Given the description of an element on the screen output the (x, y) to click on. 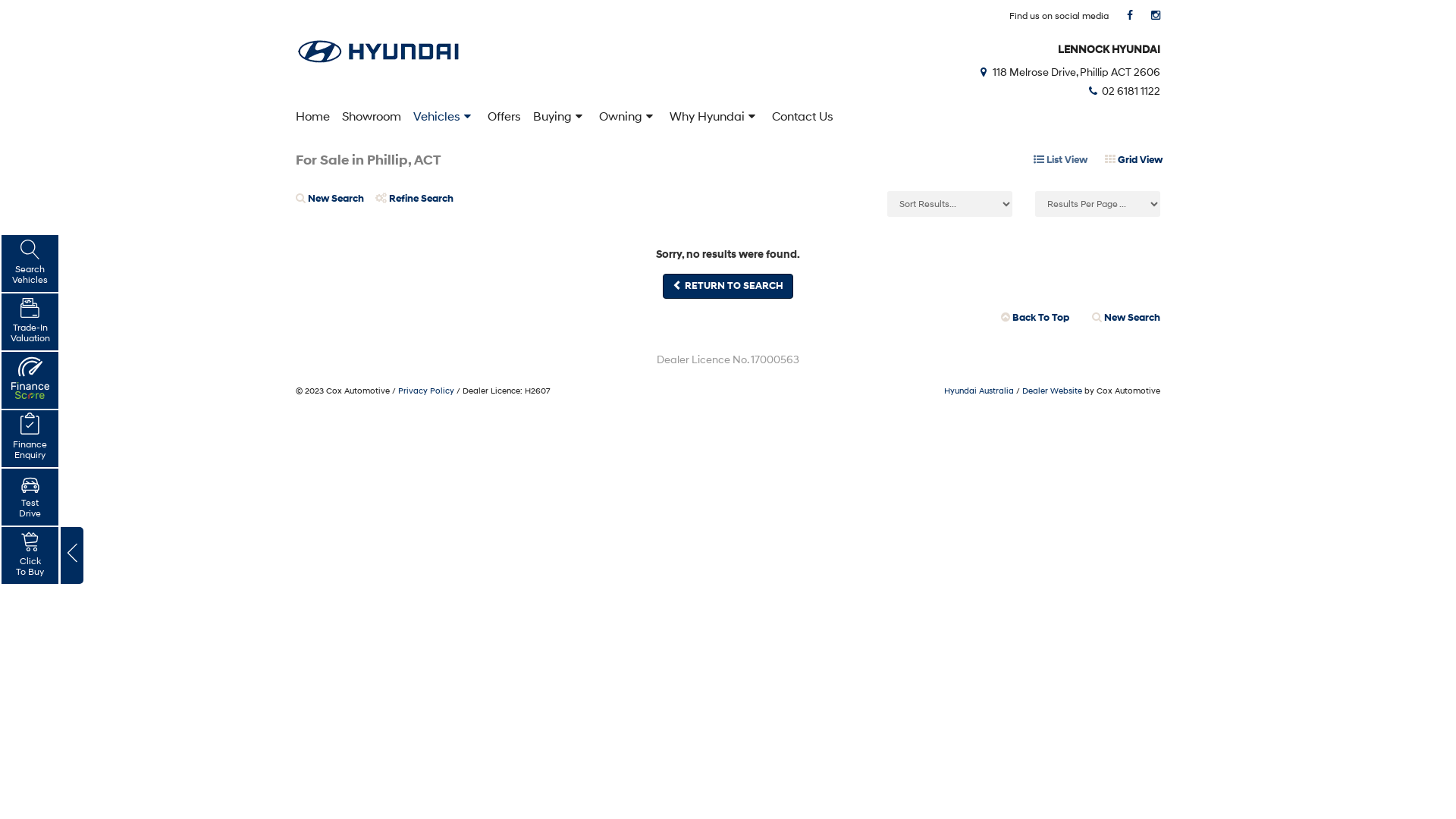
02 6181 1122 Element type: text (1122, 90)
Refine Search Element type: text (419, 204)
Search
Vehicles Element type: text (29, 263)
RETURN TO SEARCH Element type: text (727, 285)
Grid View Element type: text (1133, 160)
118 Melrose Drive, Phillip ACT 2606 Element type: text (1068, 71)
Vehicles Element type: text (444, 115)
Finance
Enquiry Element type: text (29, 438)
Instagram Element type: hover (1155, 14)
Dealer Website Element type: text (1052, 390)
Trade-In
Valuation Element type: text (29, 321)
New Search Element type: text (1120, 317)
Facebook Element type: hover (1129, 14)
Home Element type: text (307, 115)
List View Element type: text (1060, 160)
Back To Top Element type: text (1034, 317)
Privacy Policy Element type: text (426, 390)
Why Hyundai Element type: text (714, 115)
Test
Drive Element type: text (29, 496)
Hyundai Australia Element type: text (978, 390)
Owning Element type: text (628, 115)
Offers Element type: text (504, 115)
Contact Us Element type: text (802, 115)
New Search Element type: text (335, 204)
Click
To Buy Element type: text (29, 555)
Buying Element type: text (560, 115)
Showroom Element type: text (371, 115)
